Given the description of an element on the screen output the (x, y) to click on. 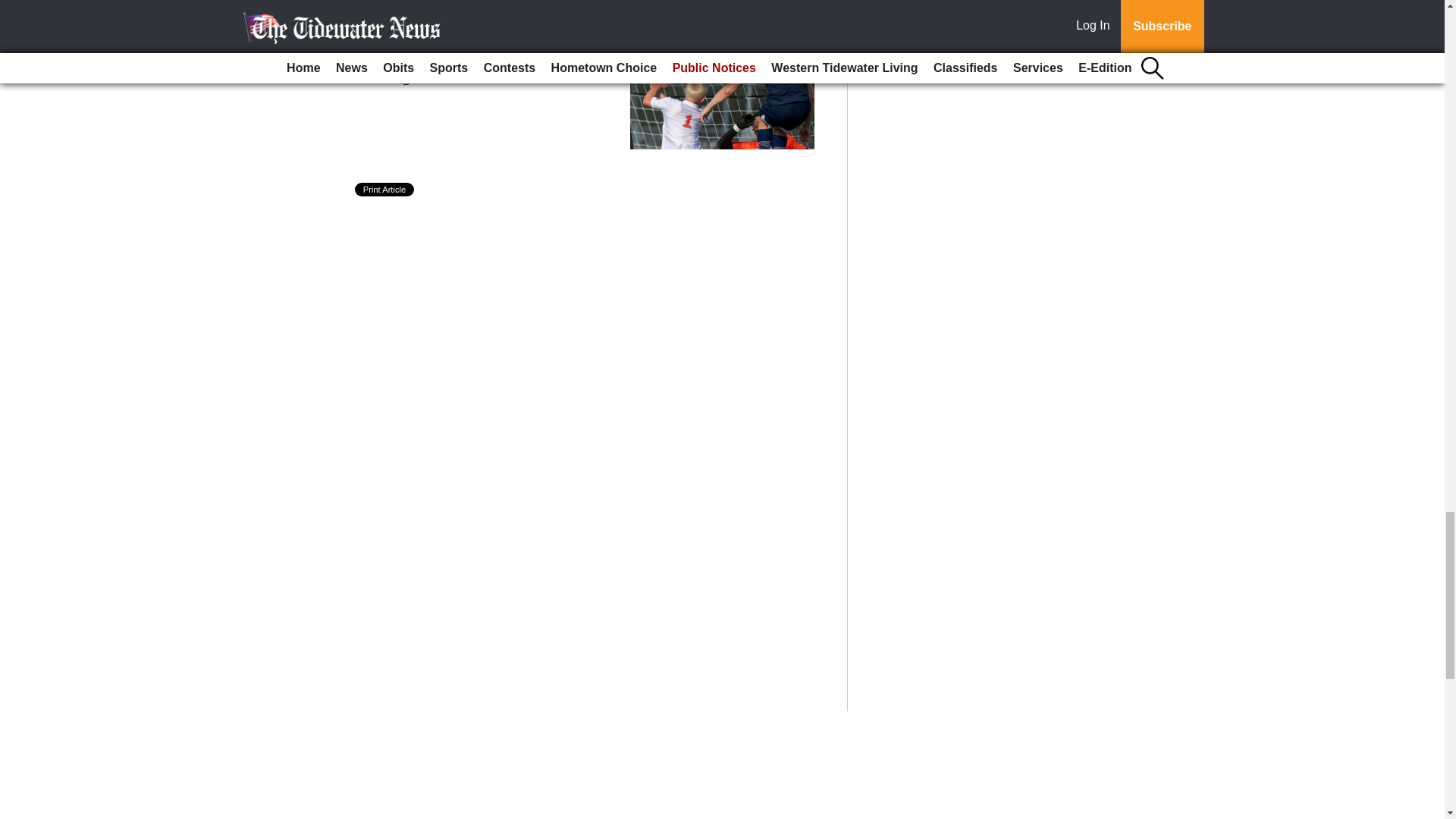
Broncos fall to Altavista in Class 1 Region B semifinals (496, 66)
